Given the description of an element on the screen output the (x, y) to click on. 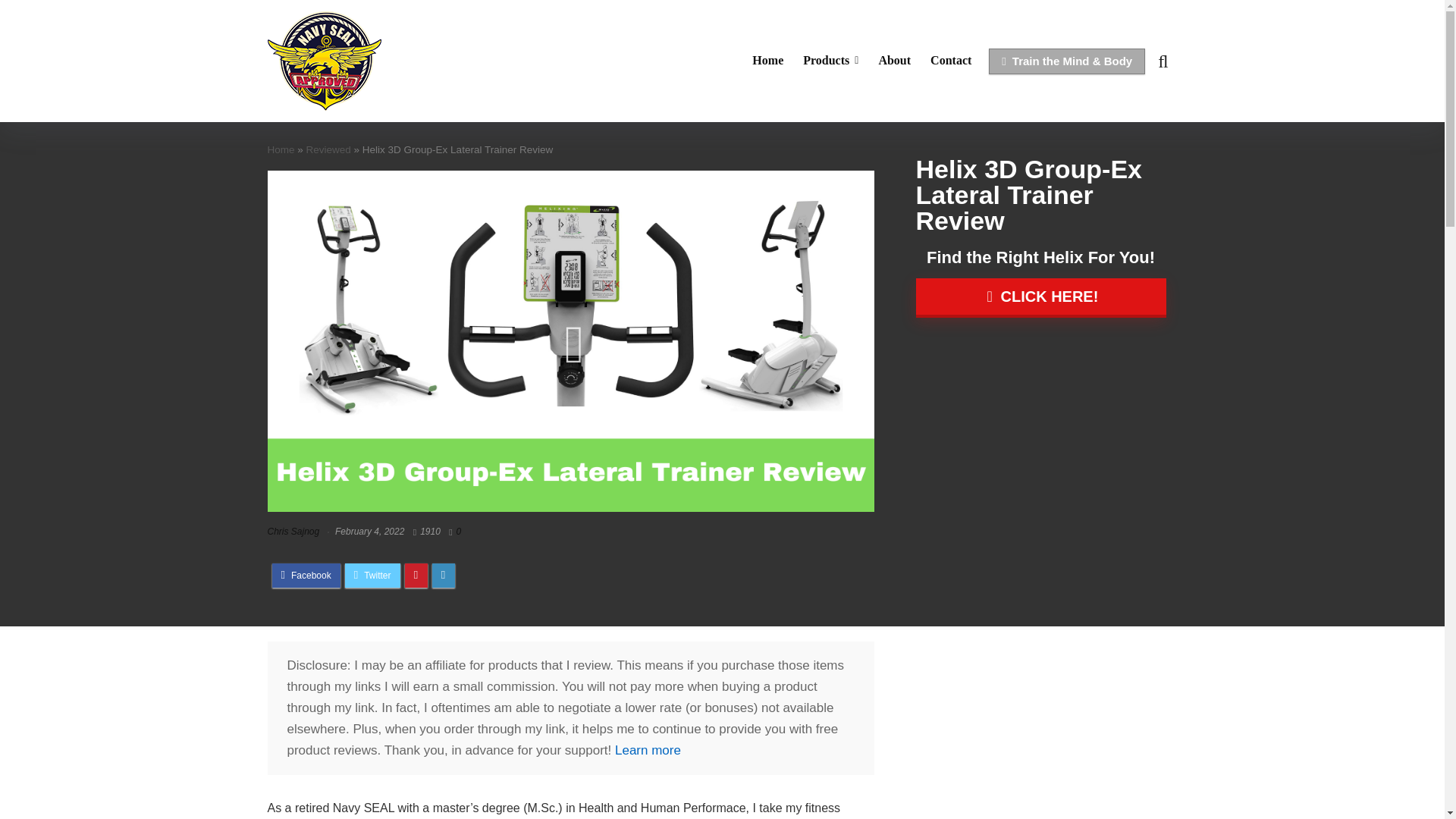
0 (459, 531)
Contact (950, 61)
Reviewed (327, 149)
CLICK HERE! (1040, 297)
Chris Sajnog (292, 531)
Products (830, 61)
About (893, 61)
Home (280, 149)
Learn more (647, 749)
Home (767, 61)
